Given the description of an element on the screen output the (x, y) to click on. 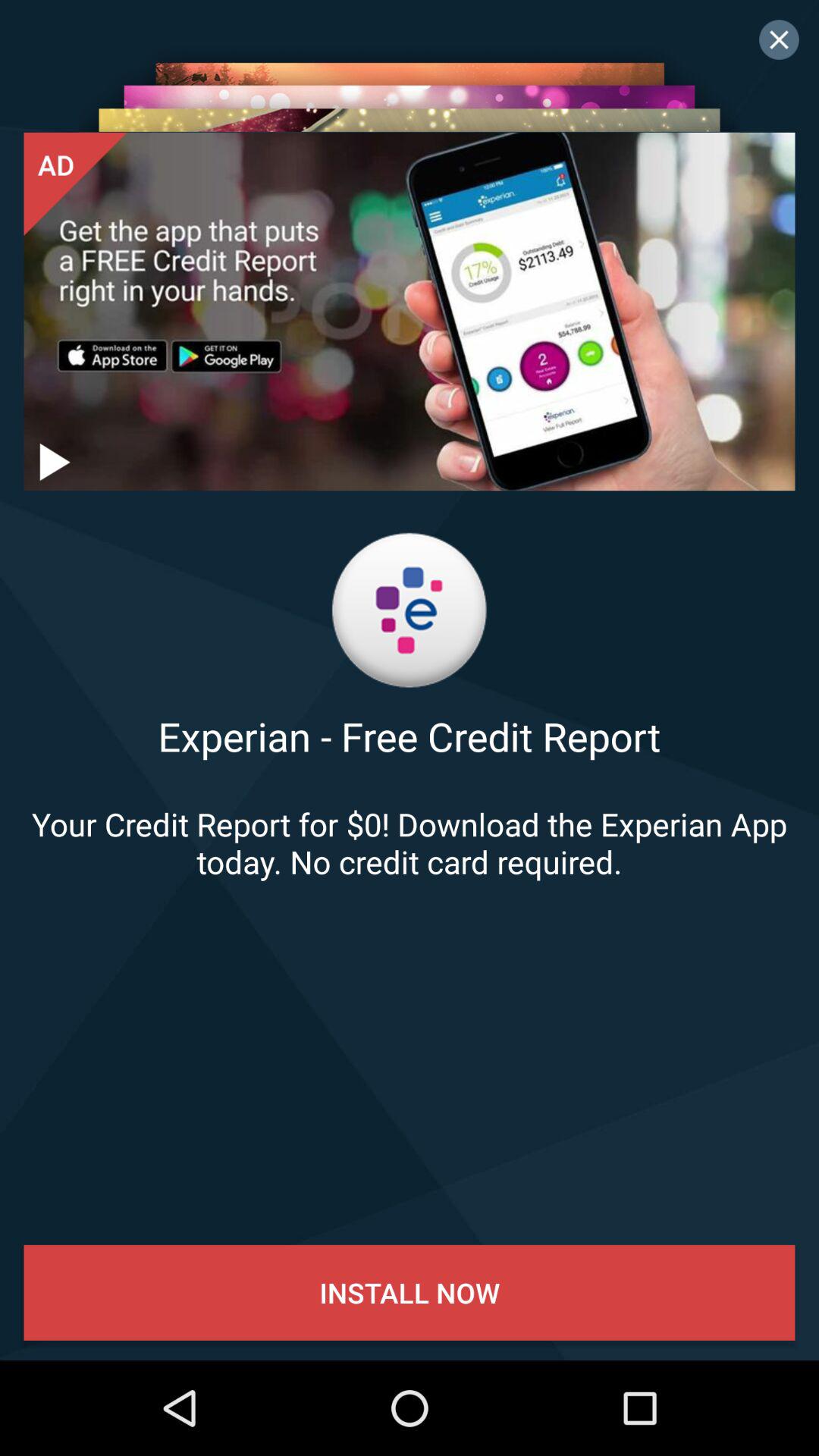
close the popup advertisement (779, 39)
